Given the description of an element on the screen output the (x, y) to click on. 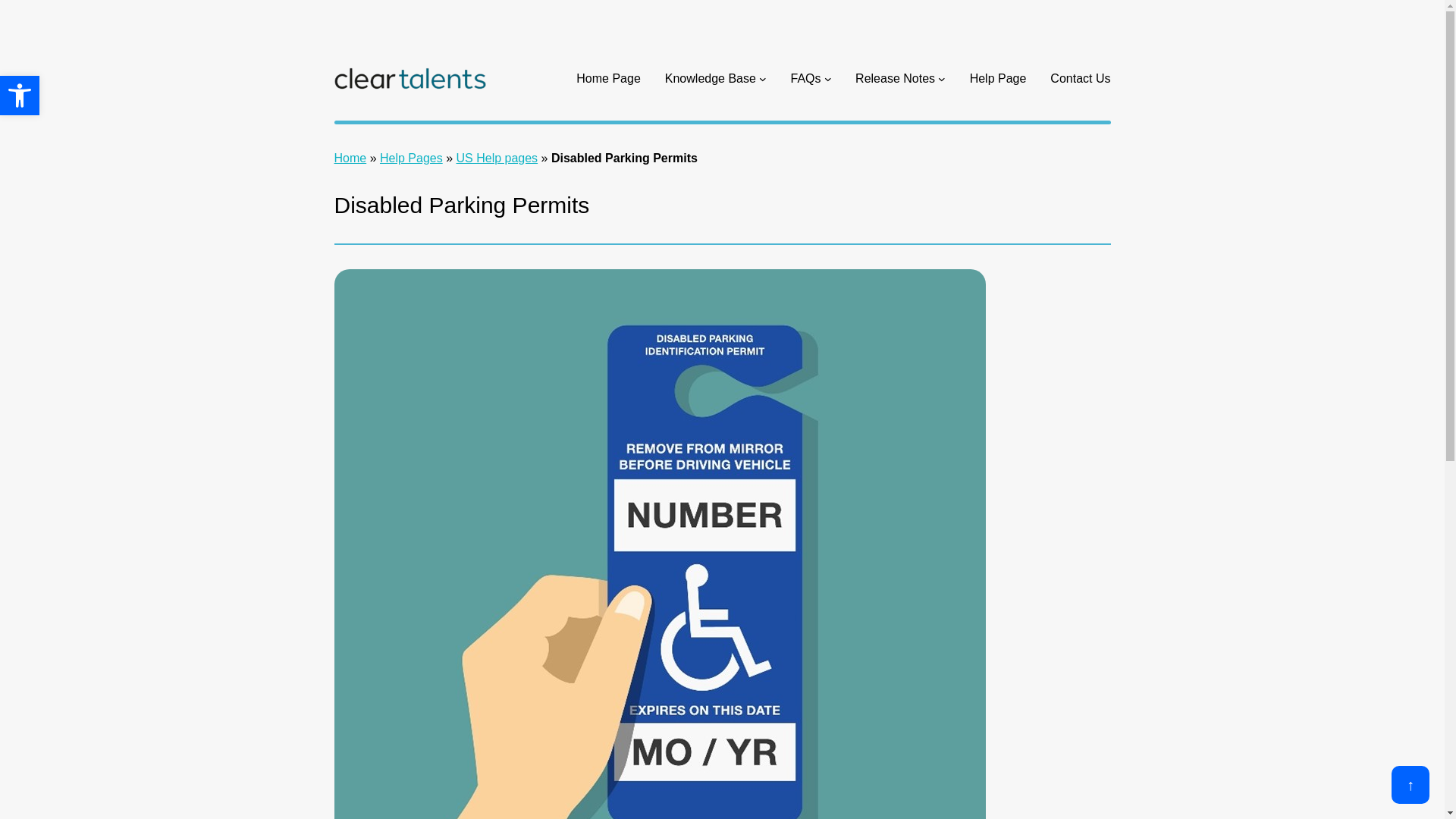
Contact Us (1079, 78)
Accessibility Tools (19, 95)
Accessibility Tools (19, 95)
Release Notes (19, 95)
Home Page (895, 78)
Help Pages (608, 78)
US Help pages (411, 157)
Home (497, 157)
Knowledge Base (349, 157)
